Given the description of an element on the screen output the (x, y) to click on. 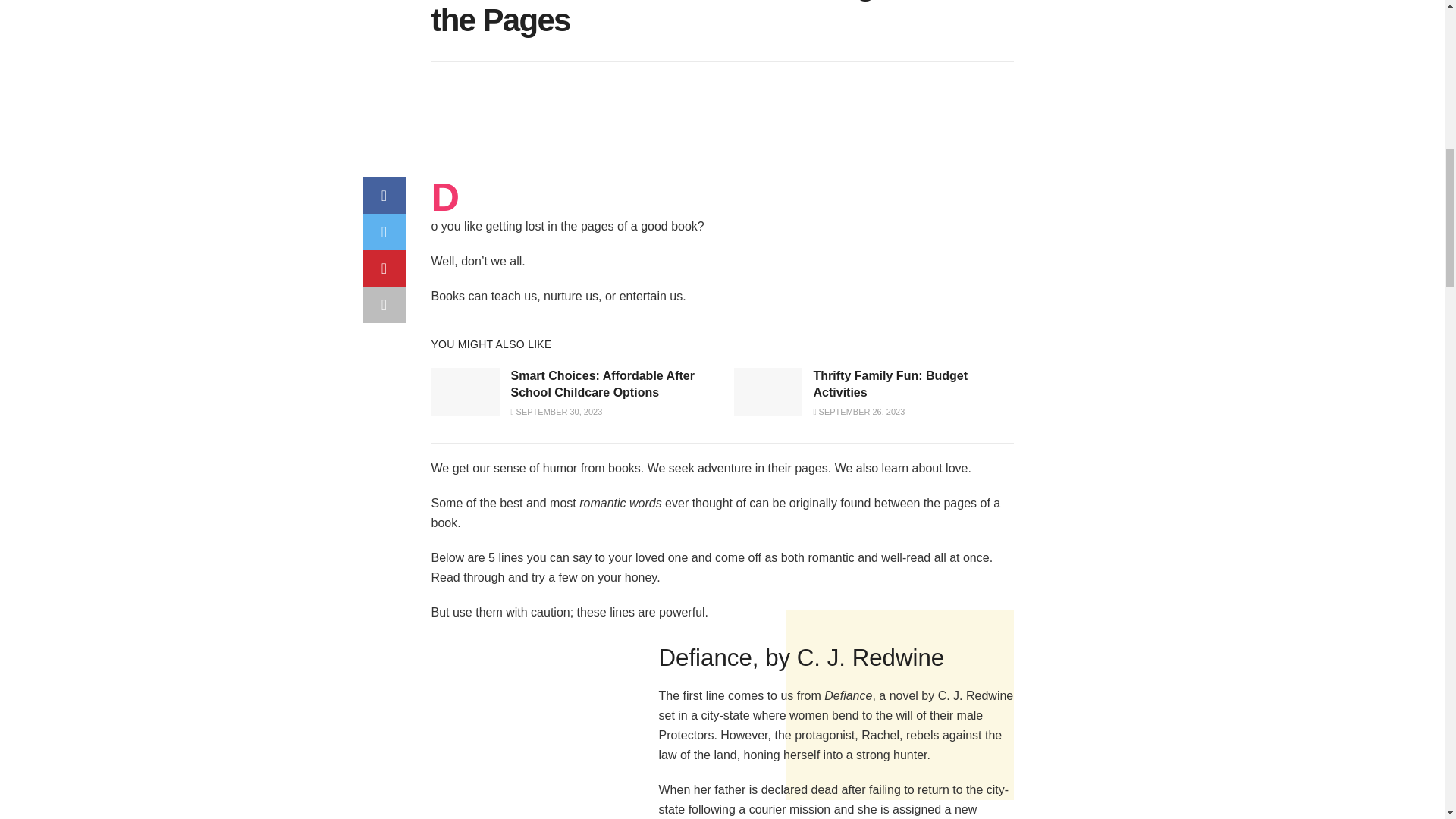
SEPTEMBER 30, 2023 (556, 411)
SEPTEMBER 26, 2023 (858, 411)
Advertisement (721, 137)
Thrifty Family Fun: Budget Activities (890, 383)
Smart Choices: Affordable After School Childcare Options (602, 383)
